Given the description of an element on the screen output the (x, y) to click on. 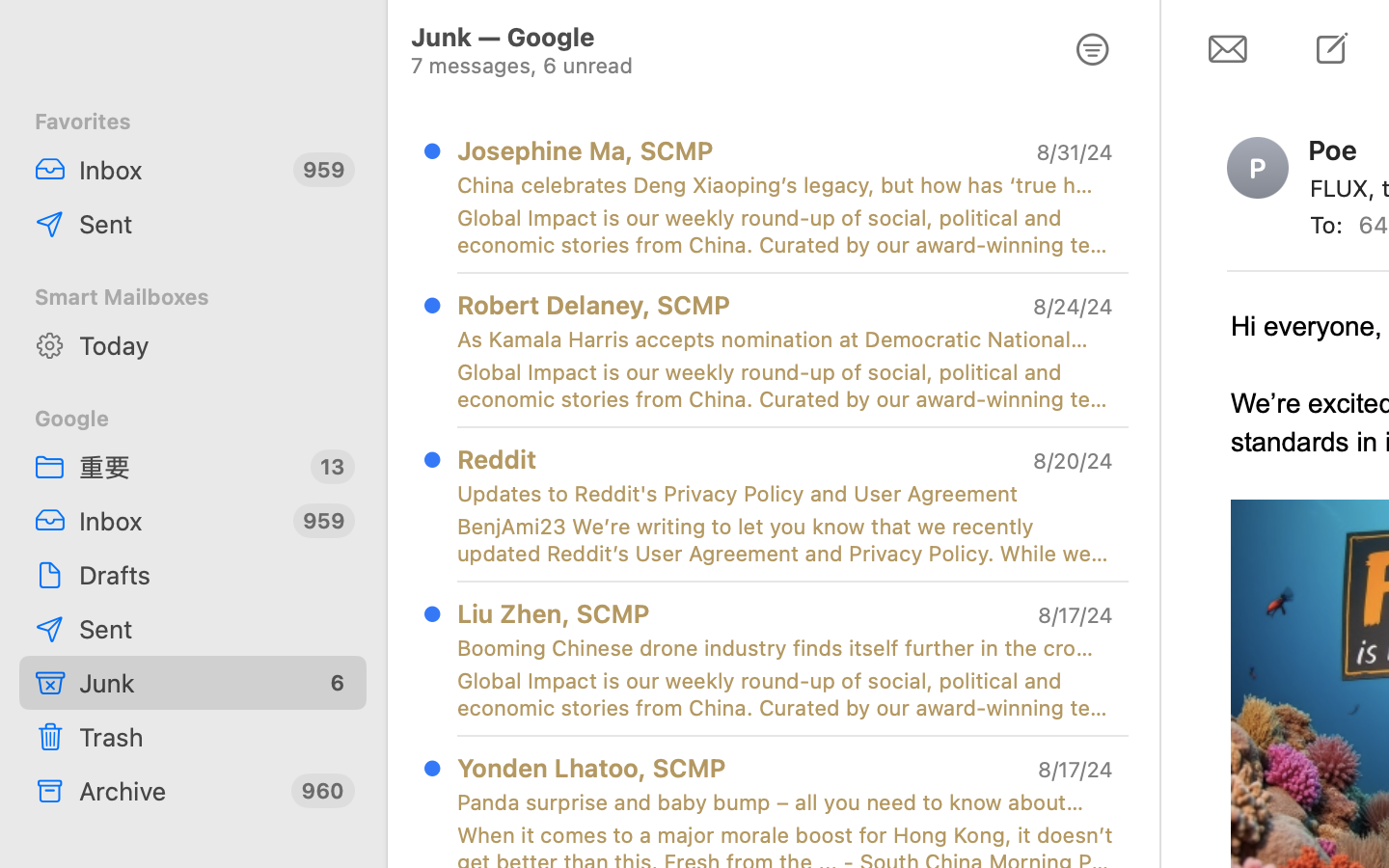
Google Element type: AXStaticText (192, 418)
Josephine Ma, SCMP Element type: AXStaticText (585, 150)
8/24/24 Element type: AXStaticText (1071, 306)
China celebrates Deng Xiaoping’s legacy, but how has ‘true heir’ Xi Jinping taken up the reins? Element type: AXStaticText (777, 184)
重要 Element type: AXTextField (187, 466)
